Given the description of an element on the screen output the (x, y) to click on. 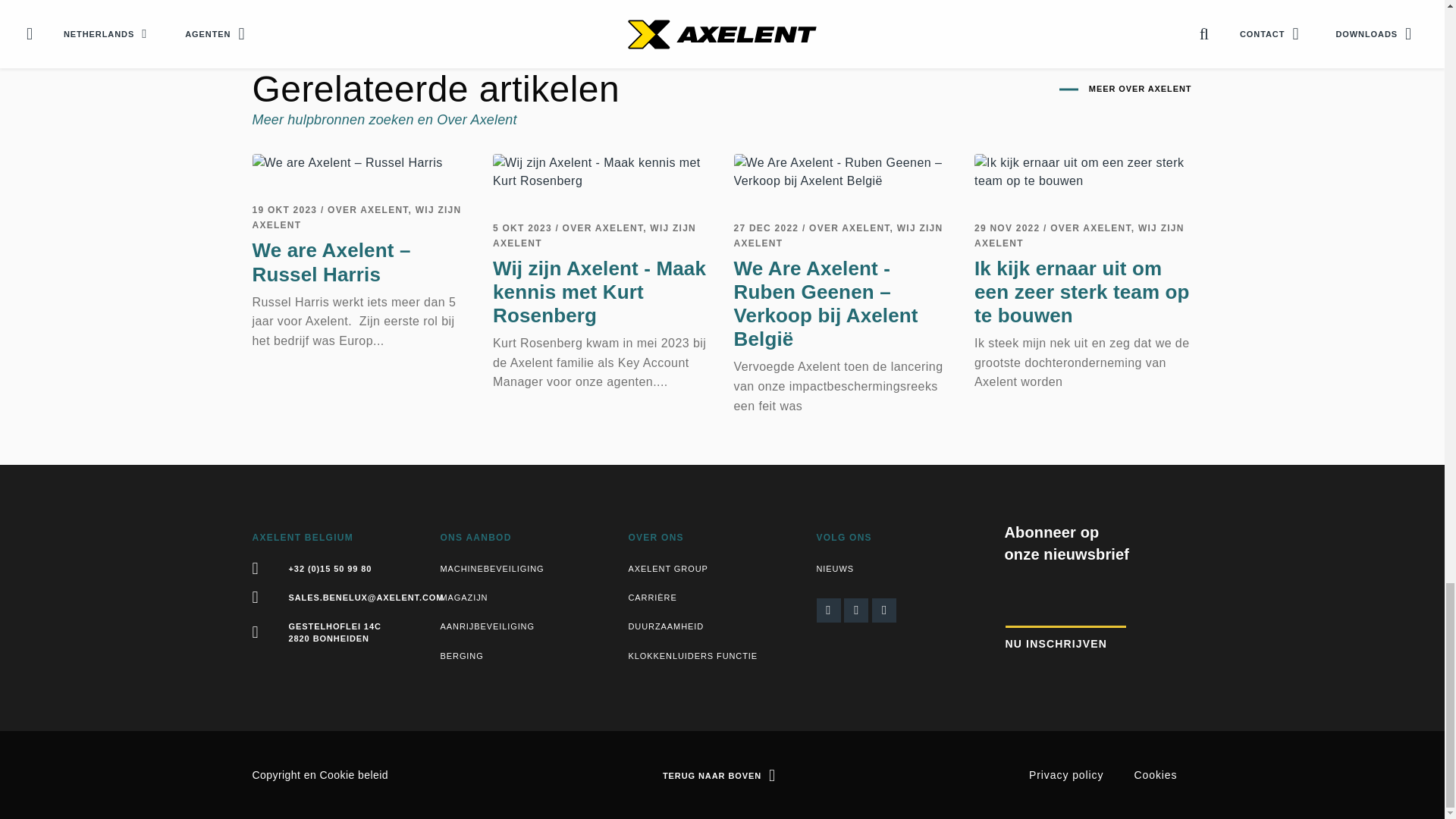
Ik kijk ernaar uit om een zeer sterk team op te bouwen  (1083, 171)
Cookies (354, 775)
Wij zijn Axelent - Maak kennis met Kurt Rosenberg  (602, 171)
